Given the description of an element on the screen output the (x, y) to click on. 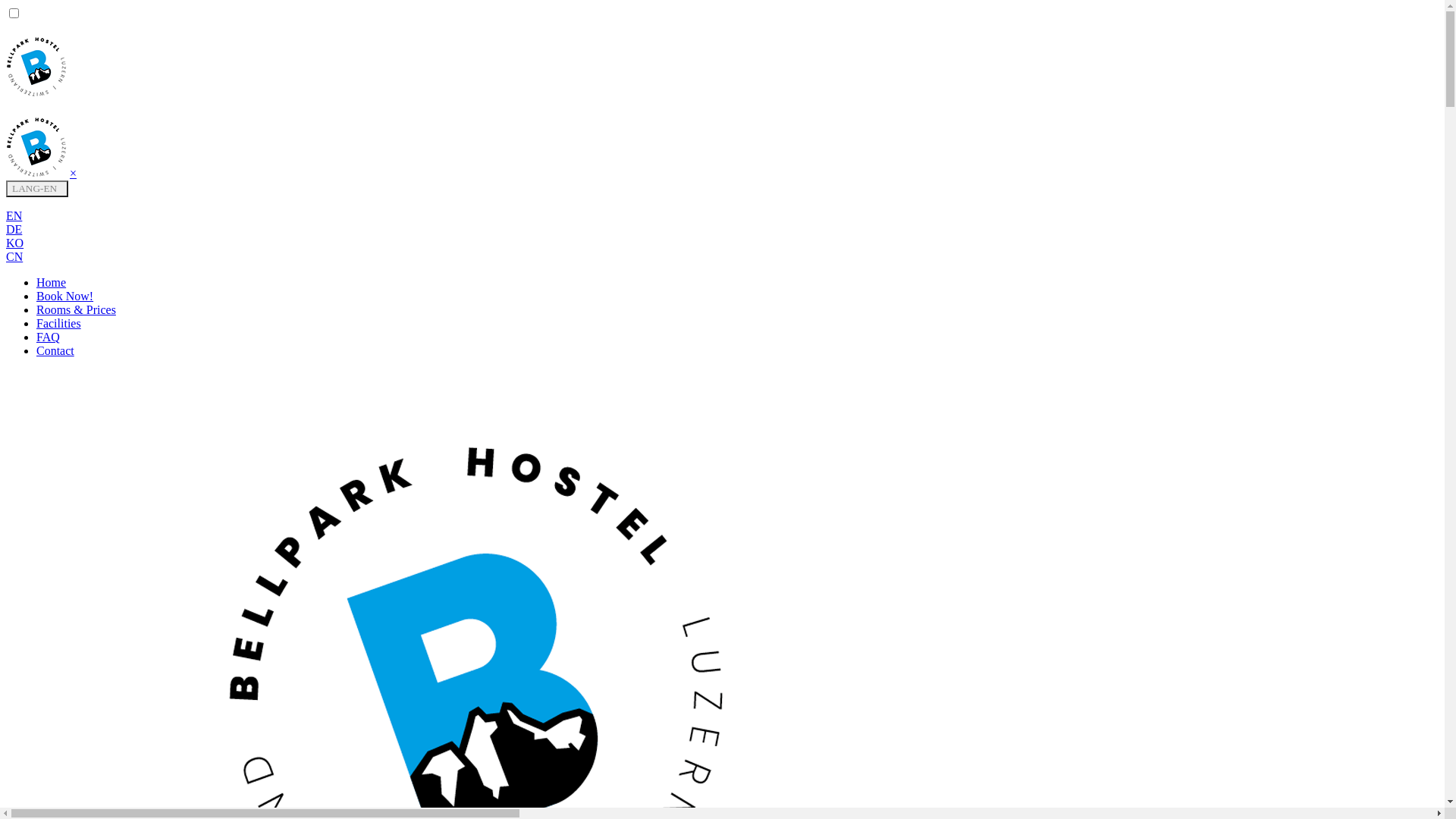
Contact Element type: text (55, 350)
Rooms & Prices Element type: text (76, 309)
Home Element type: text (50, 282)
CN Element type: text (14, 256)
LANG-EN   Element type: text (37, 188)
FAQ Element type: text (47, 336)
KO Element type: text (14, 242)
Facilities Element type: text (58, 322)
EN Element type: text (13, 215)
Book Now! Element type: text (64, 295)
DE Element type: text (13, 228)
